Given the description of an element on the screen output the (x, y) to click on. 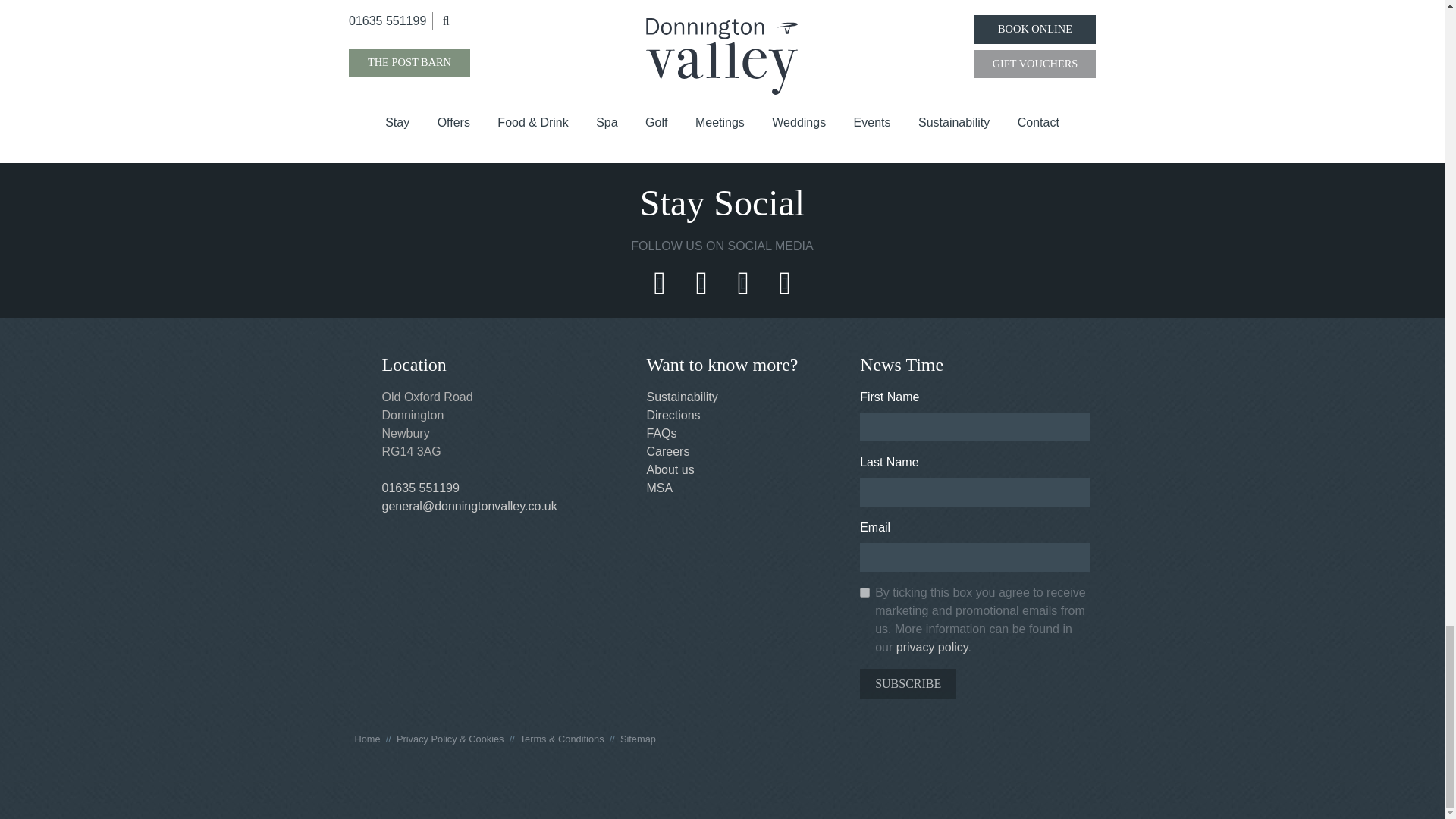
2 rosette dining (889, 65)
AA Notable Wine List (220, 65)
Britain's Finest (555, 65)
Classic British Hotels (1224, 65)
on (864, 592)
